Given the description of an element on the screen output the (x, y) to click on. 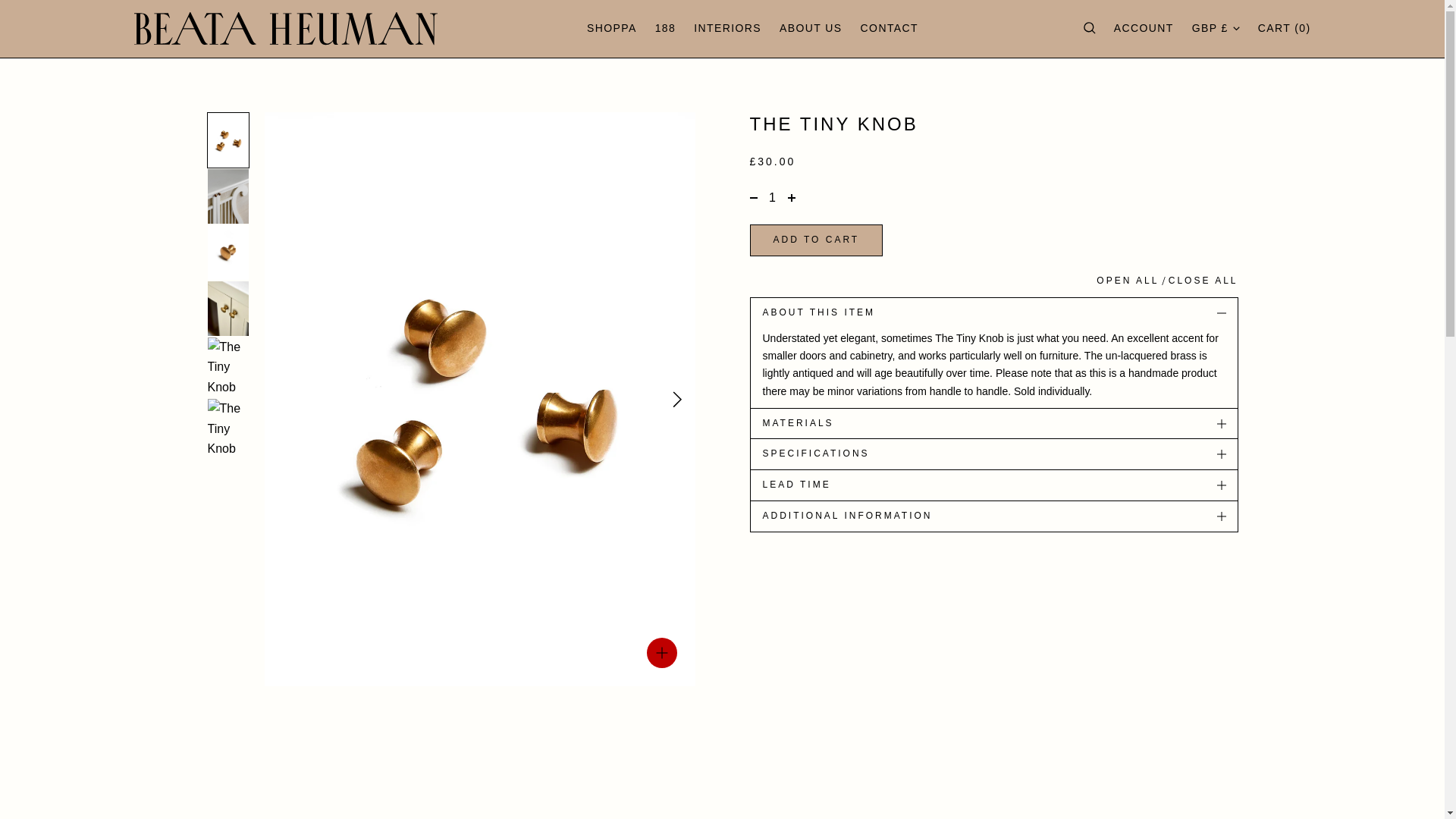
SE (1298, 124)
AR (1298, 341)
AX (1298, 199)
AI (1298, 300)
DZ (1298, 240)
CONTACT (889, 28)
GB (1298, 83)
AW (1298, 381)
SHOPPA (611, 28)
US (1298, 104)
